Given the description of an element on the screen output the (x, y) to click on. 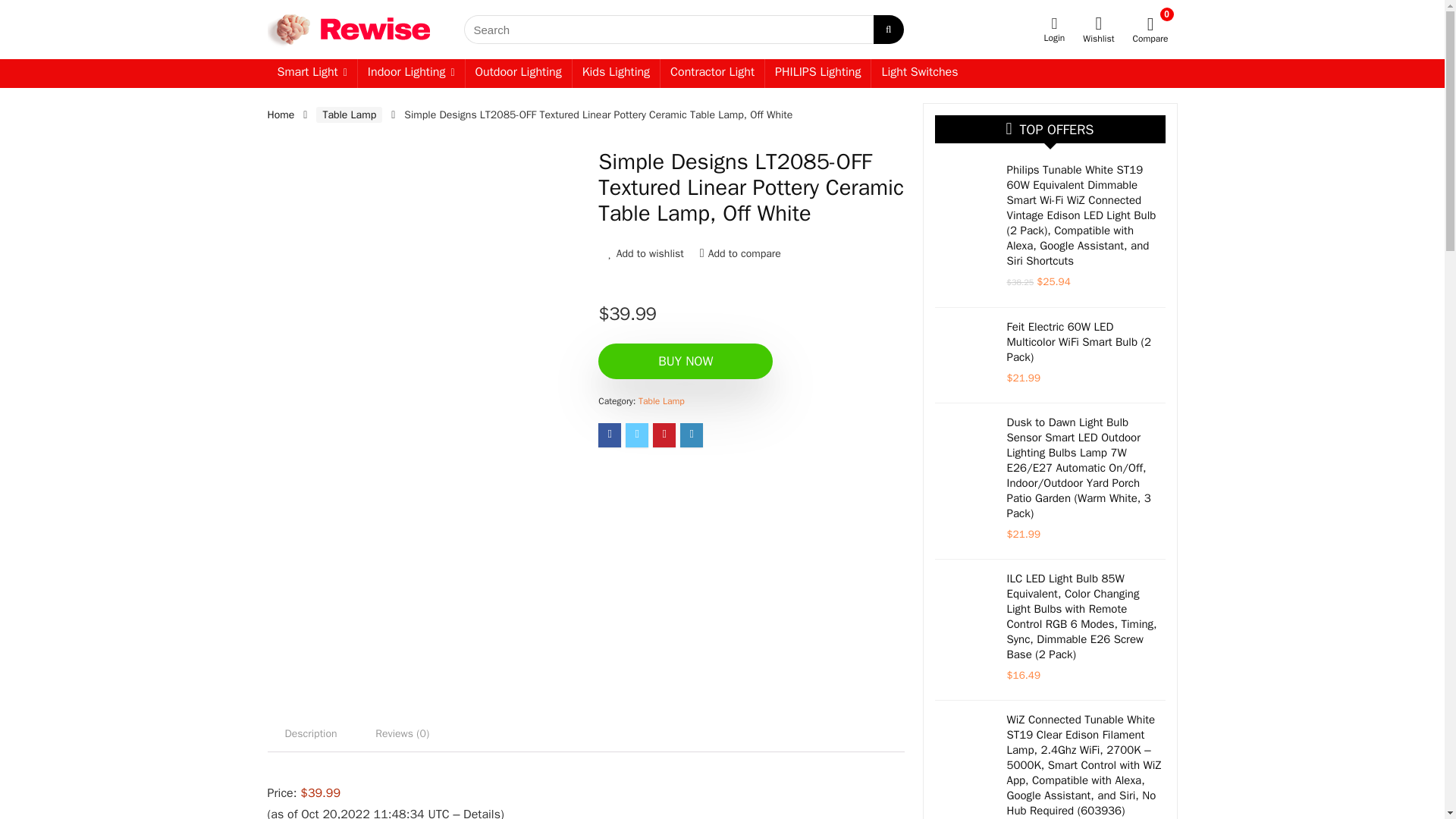
Smart Light (311, 72)
Contractor Light (712, 72)
Light Switches (919, 72)
Indoor Lighting (411, 72)
Description (309, 733)
PHILIPS Lighting (817, 72)
Table Lamp (661, 400)
BUY NOW (685, 361)
Home (280, 114)
Outdoor Lighting (518, 72)
Kids Lighting (615, 72)
Table Lamp (348, 114)
